Given the description of an element on the screen output the (x, y) to click on. 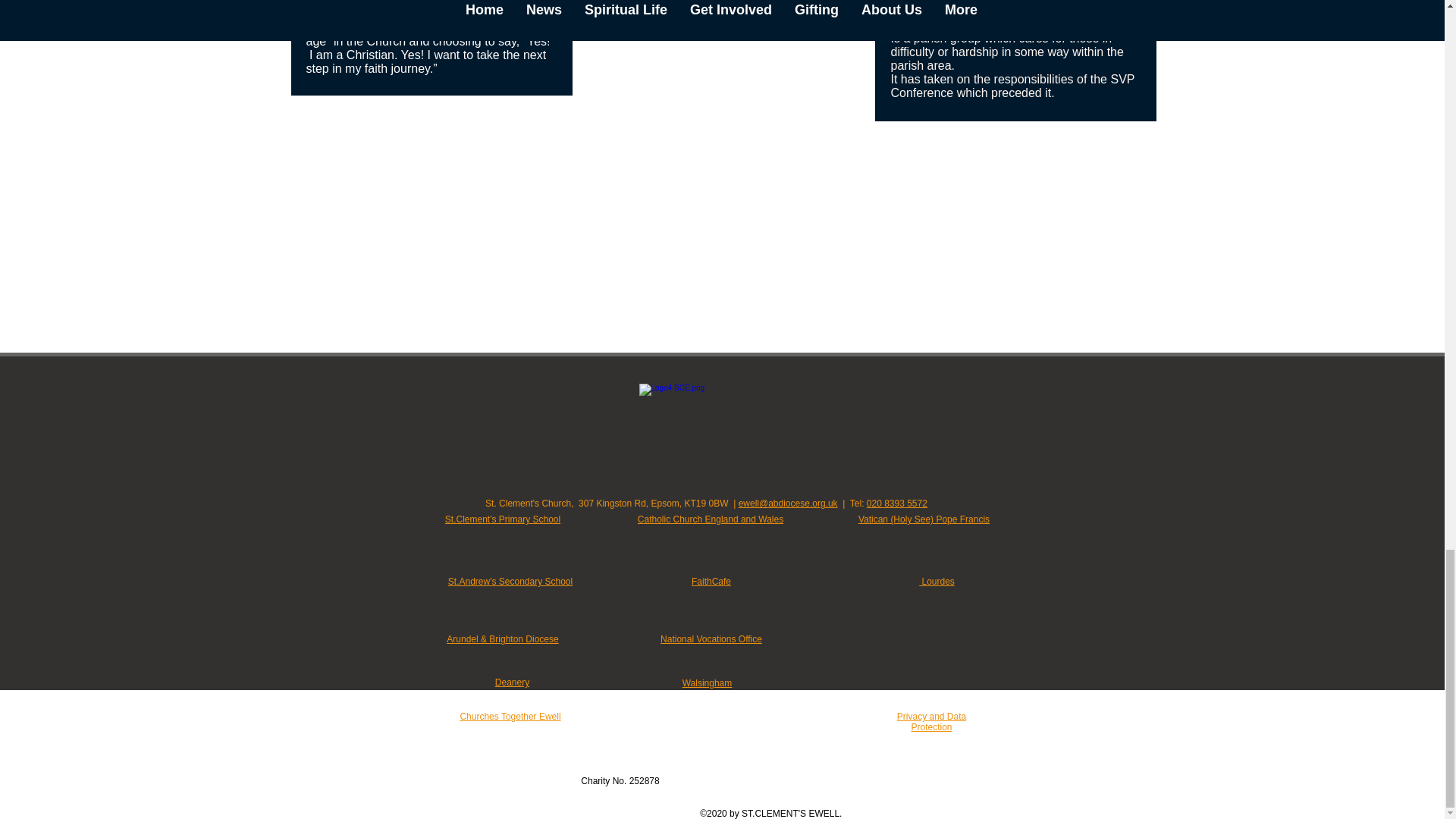
FaithCafe (710, 581)
St.Clement's Primary School (502, 519)
St.Andrew's Secondary School (510, 581)
Deanery (512, 682)
Catholic Church England and Wales (710, 519)
020 8393 5572 (896, 502)
